Given the description of an element on the screen output the (x, y) to click on. 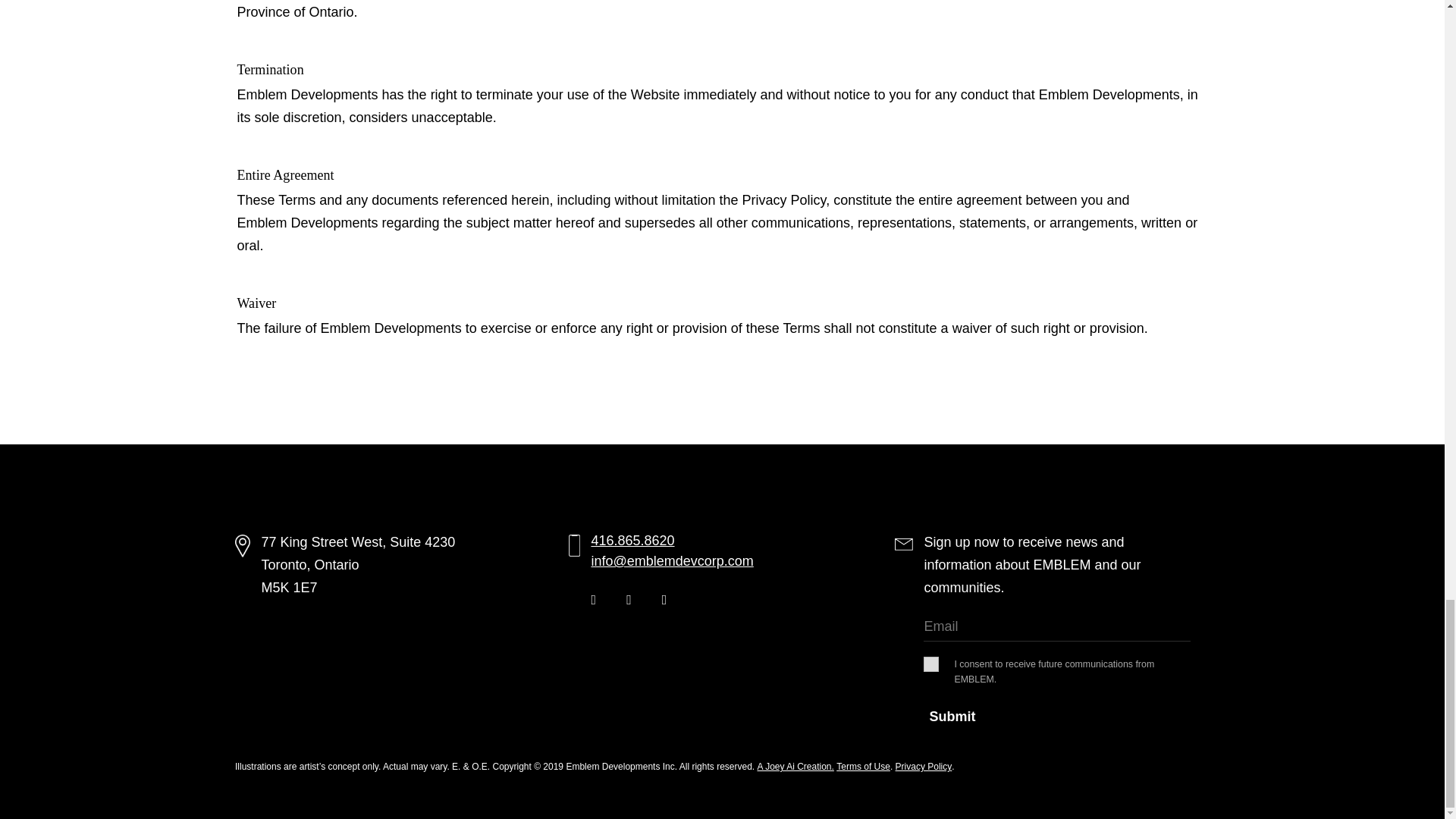
Emblem Developments (1109, 94)
Emblem Developments (306, 94)
